Given the description of an element on the screen output the (x, y) to click on. 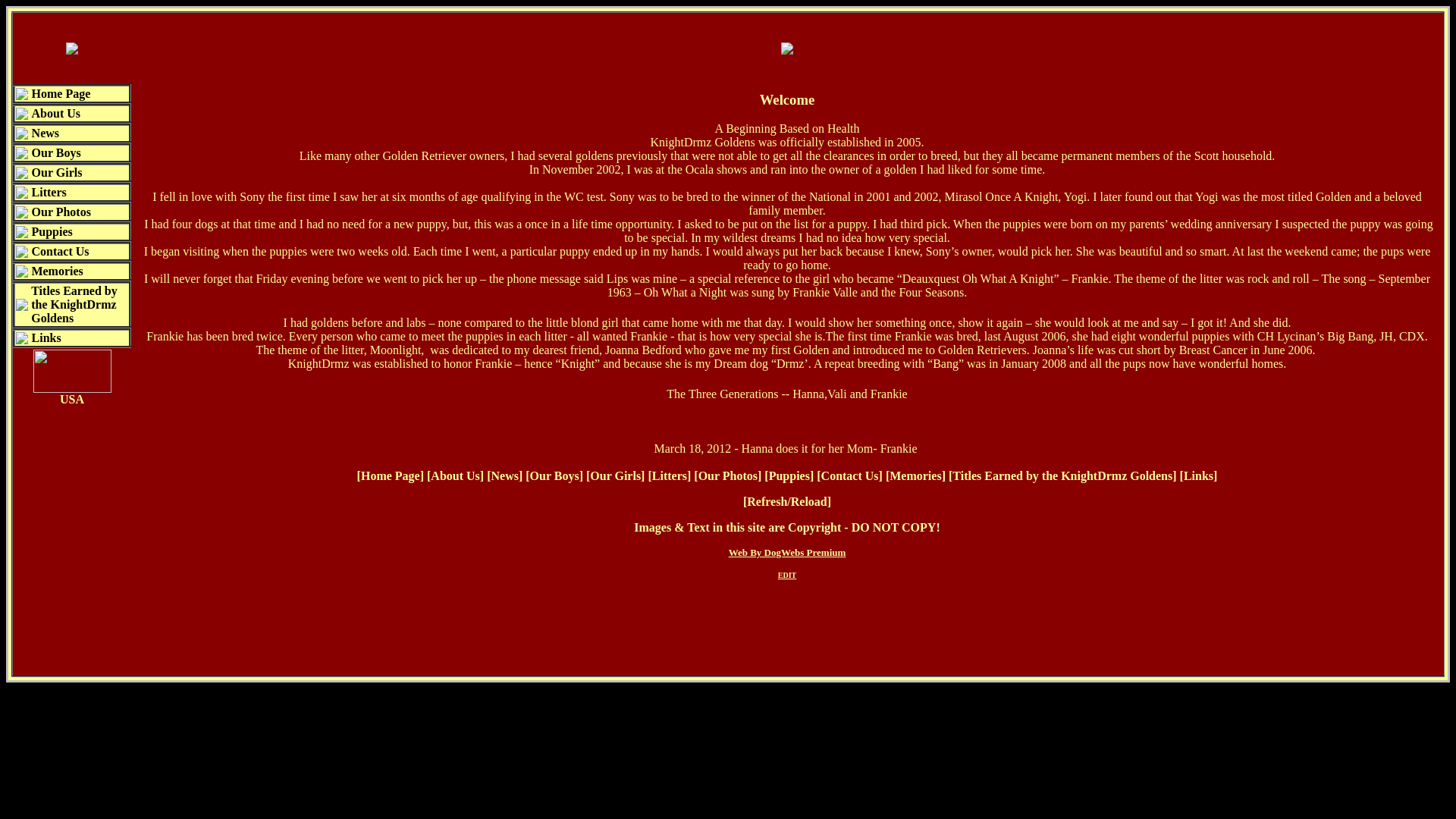
Titles Earned by the KnightDrmz Goldens (73, 304)
Memories (56, 270)
News (504, 475)
Home Page (390, 475)
Our Boys (56, 152)
Our Photos (727, 475)
Links (46, 337)
Our Girls (614, 475)
Web By DogWebs Premium (787, 552)
Contact Us (850, 475)
Our Photos (61, 211)
Memories (914, 475)
Our Girls (57, 172)
Our Boys (554, 475)
Links (1197, 475)
